Given the description of an element on the screen output the (x, y) to click on. 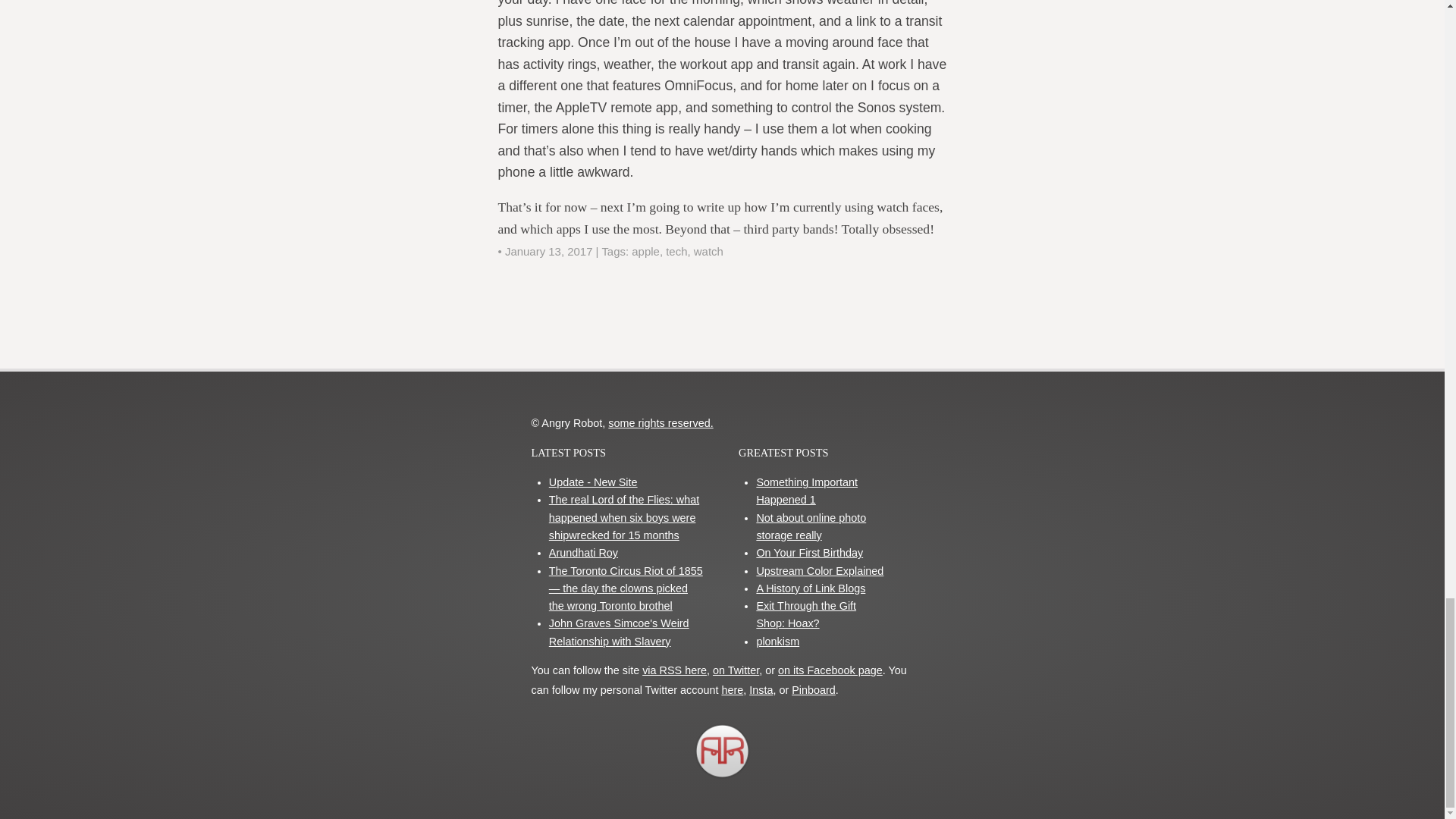
A History of Link Blogs (809, 588)
tech (676, 250)
Upstream Color Explained (819, 571)
via RSS here (674, 670)
Exit Through the Gift Shop: Hoax? (805, 614)
On Your First Birthday (809, 552)
Arundhati Roy (582, 552)
apple (645, 250)
Update - New Site (592, 481)
Insta (761, 689)
